Given the description of an element on the screen output the (x, y) to click on. 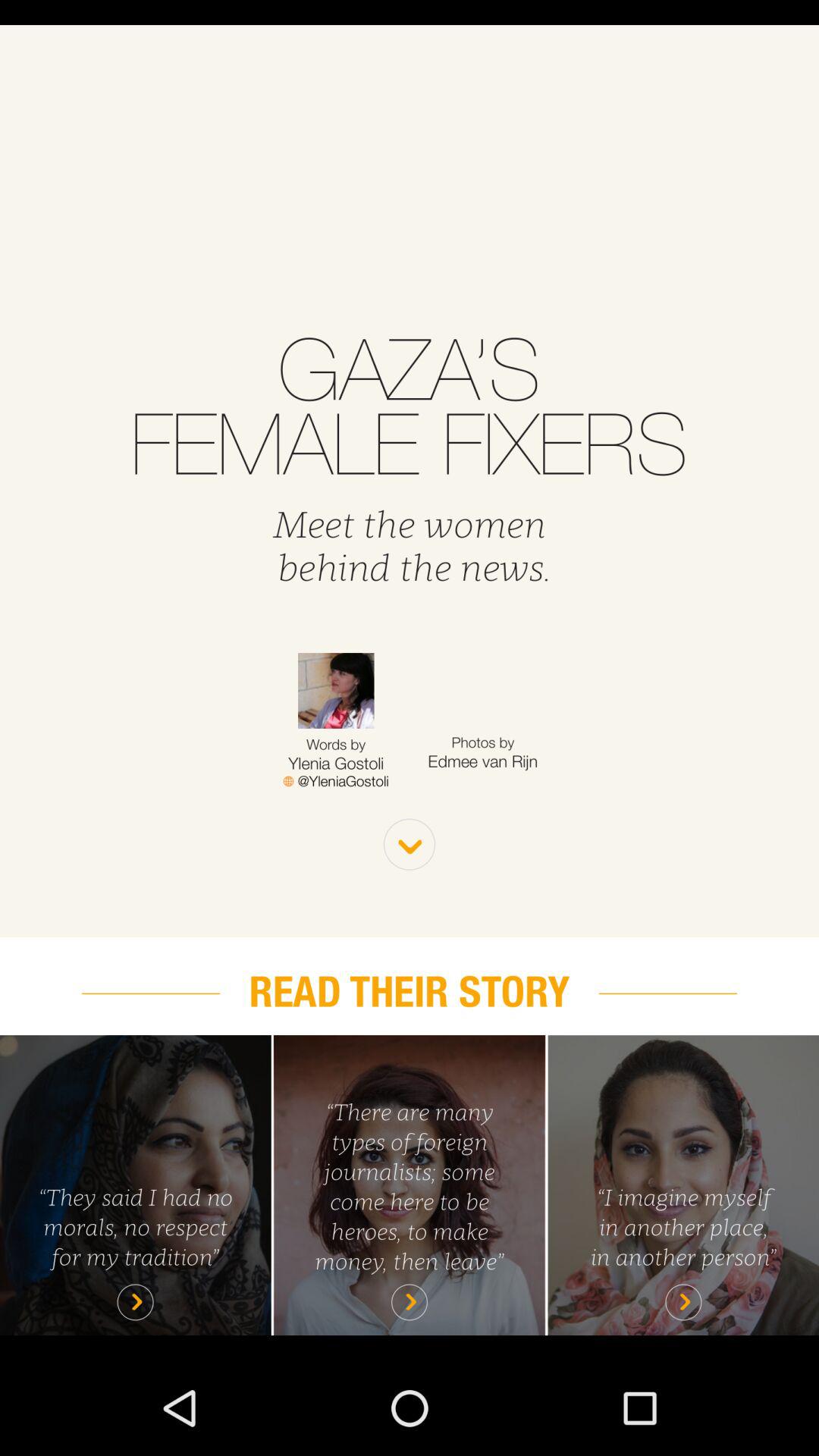
toggle the article (135, 1184)
